Given the description of an element on the screen output the (x, y) to click on. 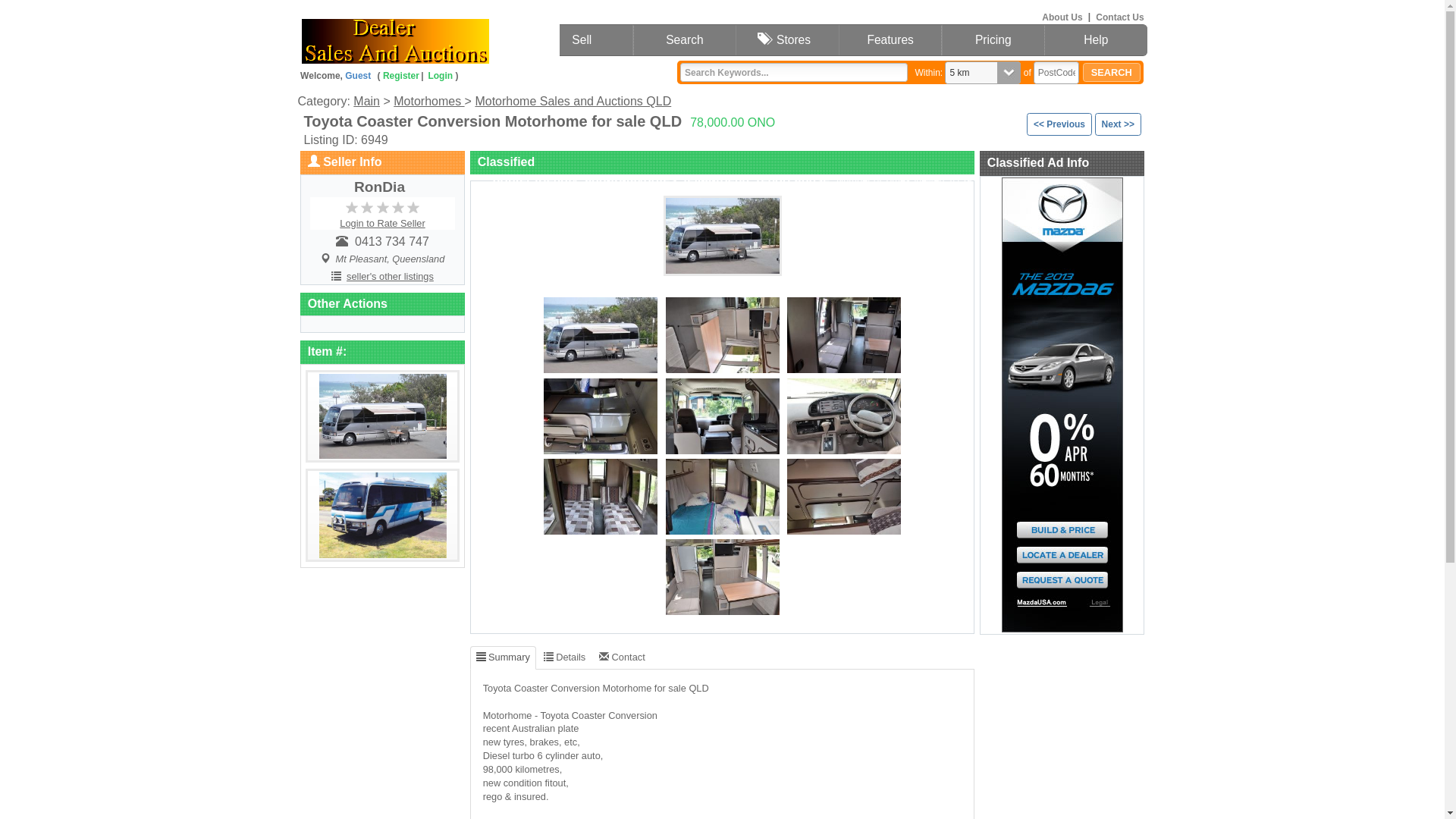
Help Element type: text (1095, 40)
About Us Element type: text (1061, 17)
tell-a-friend Element type: text (716, 178)
Motorhomes Element type: text (428, 100)
Sell Element type: text (581, 40)
<< Previous Element type: text (1058, 124)
Summary Element type: text (503, 657)
SEARCH Element type: text (1111, 71)
dealersalesandauctions.com.au Element type: hover (394, 35)
Login to Rate Seller Element type: text (381, 223)
Search Element type: text (684, 40)
seller's other listings Element type: text (389, 276)
dearlersalesandauctions.com.au Element type: hover (395, 37)
add-to-favorites Element type: text (630, 178)
dealersalesandauctions.com.au Element type: hover (427, 37)
Features Element type: text (890, 40)
Contact Element type: text (621, 657)
Contact Us Element type: text (1120, 17)
Details Element type: text (564, 657)
printer friendly Element type: text (535, 178)
Home Element type: text (479, 40)
Next >> Element type: text (1117, 124)
report abuse Element type: text (792, 178)
Main Element type: text (366, 100)
Pricing Element type: text (993, 40)
RonDia Element type: text (379, 186)
  Stores   Element type: text (786, 40)
Login Element type: text (439, 75)
Motorhome Sales and Auctions QLD Element type: text (572, 100)
Register Element type: text (403, 75)
